Given the description of an element on the screen output the (x, y) to click on. 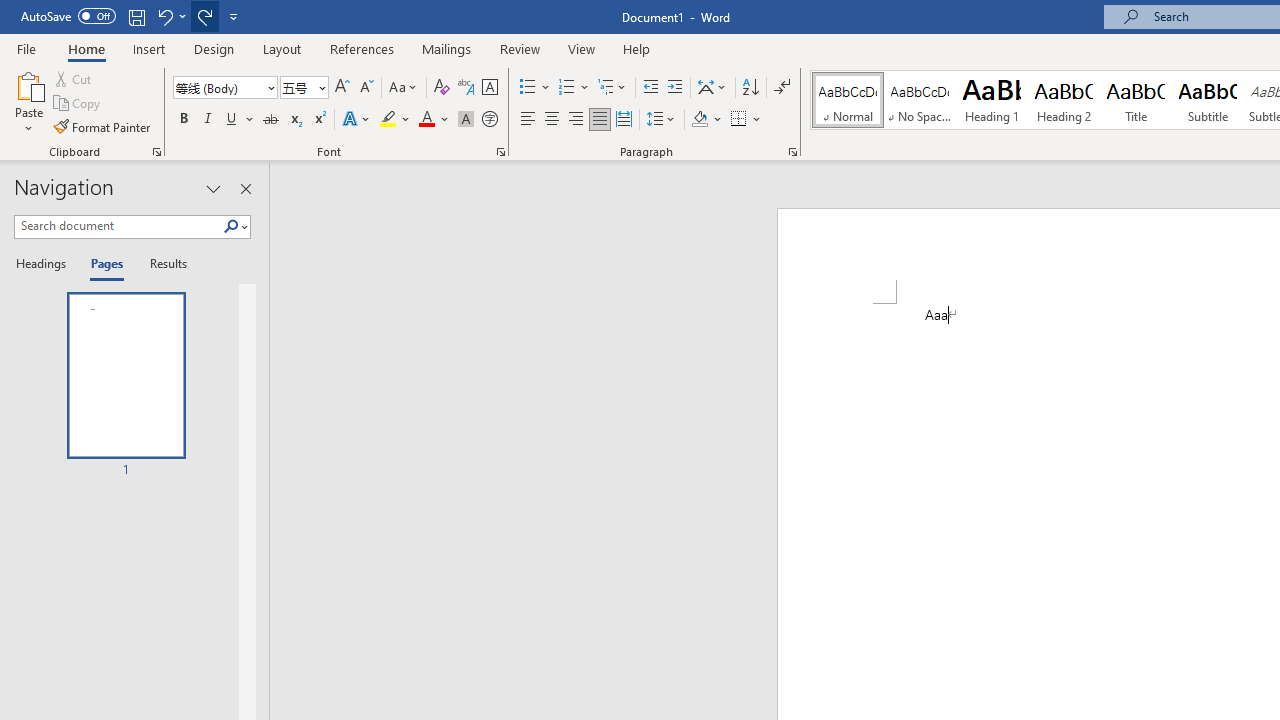
Shading (706, 119)
Bold (183, 119)
Sort... (750, 87)
Character Border (489, 87)
Shrink Font (365, 87)
Undo Apply Quick Style (164, 15)
Cut (73, 78)
Title (1135, 100)
